Given the description of an element on the screen output the (x, y) to click on. 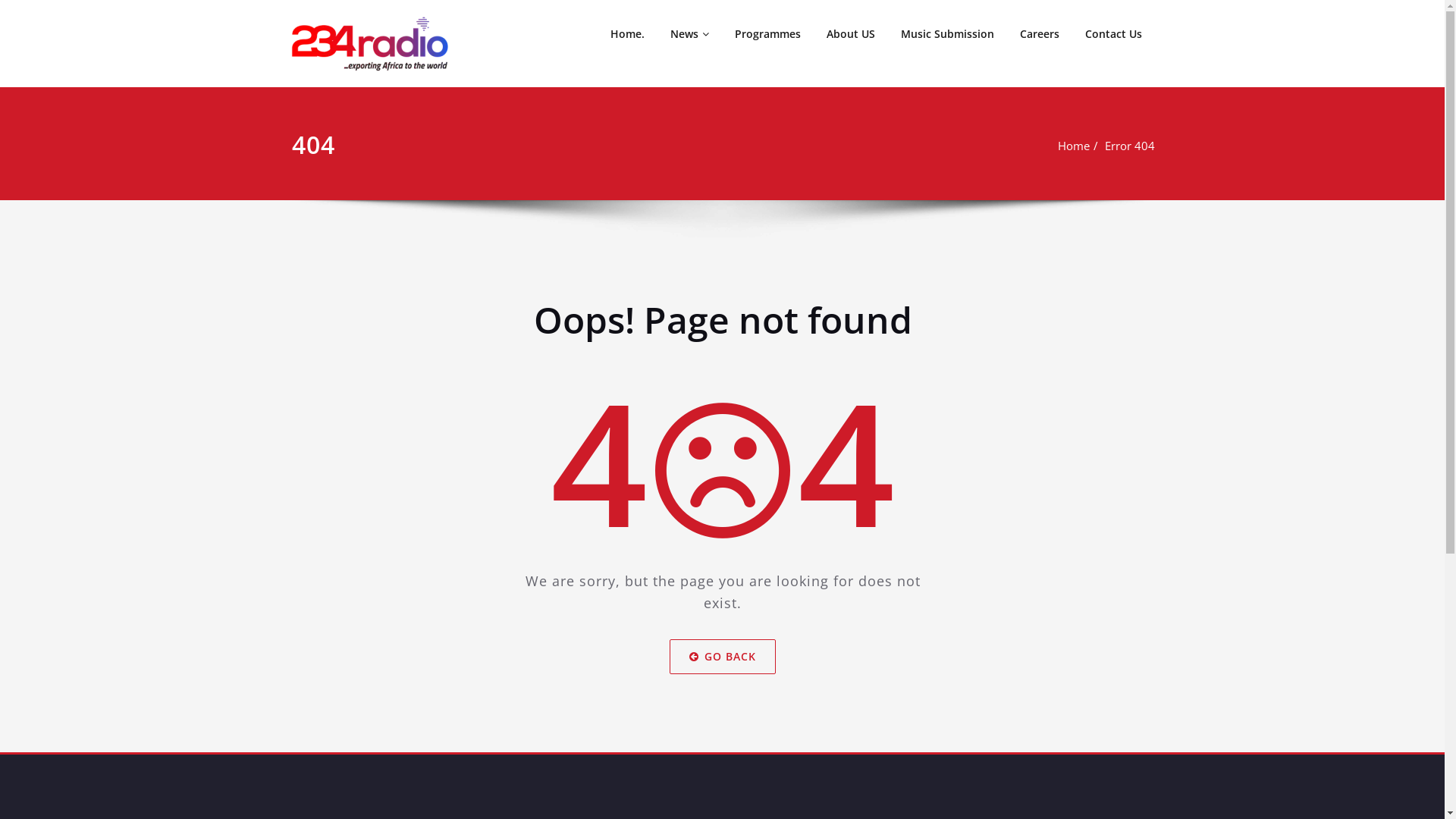
About US Element type: text (849, 34)
GO BACK Element type: text (721, 656)
Contact Us Element type: text (1113, 34)
News Element type: text (688, 34)
Home. Element type: text (627, 34)
Programmes Element type: text (767, 34)
Error 404 Element type: text (1129, 145)
Home Element type: text (1072, 145)
Music Submission Element type: text (946, 34)
Careers Element type: text (1039, 34)
